Given the description of an element on the screen output the (x, y) to click on. 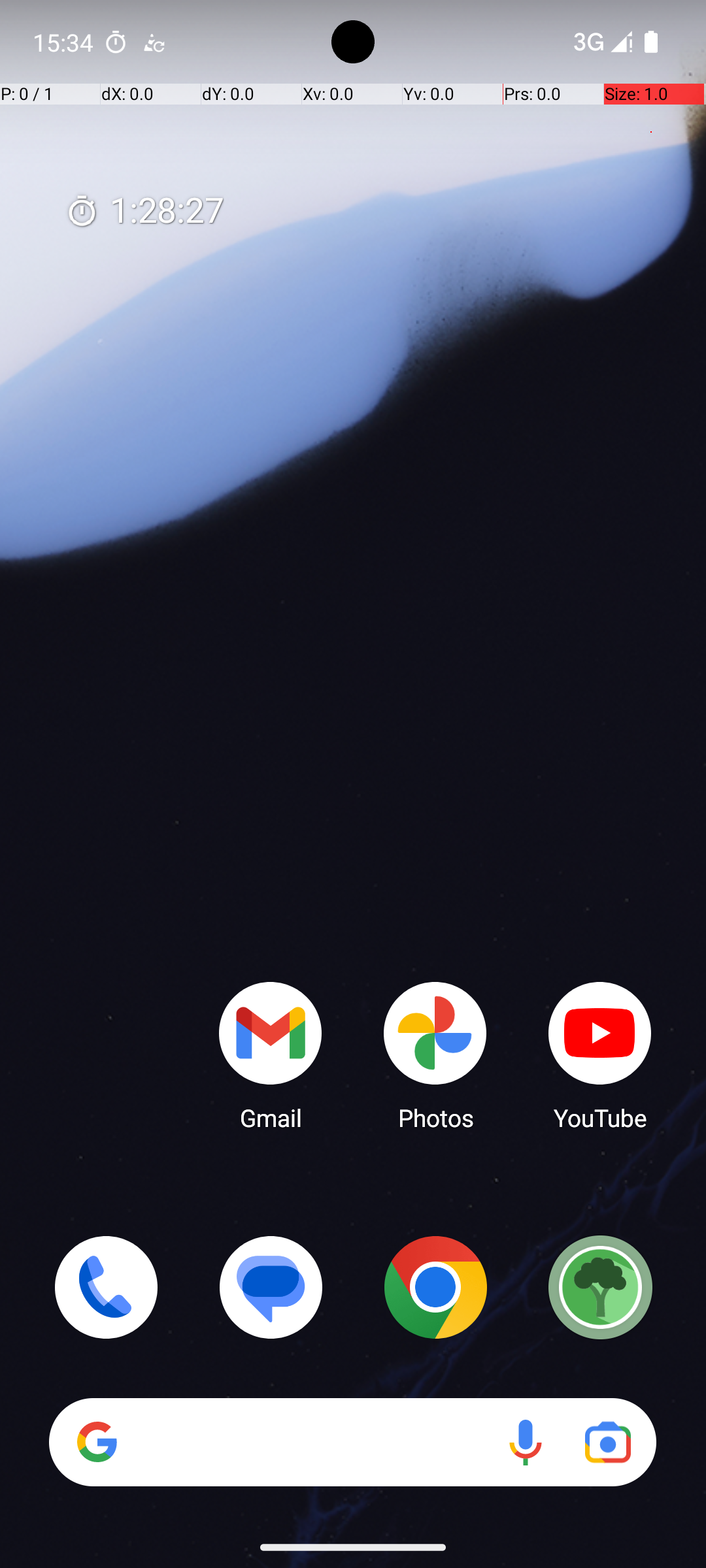
1:28:27 Element type: android.widget.TextView (144, 210)
